Given the description of an element on the screen output the (x, y) to click on. 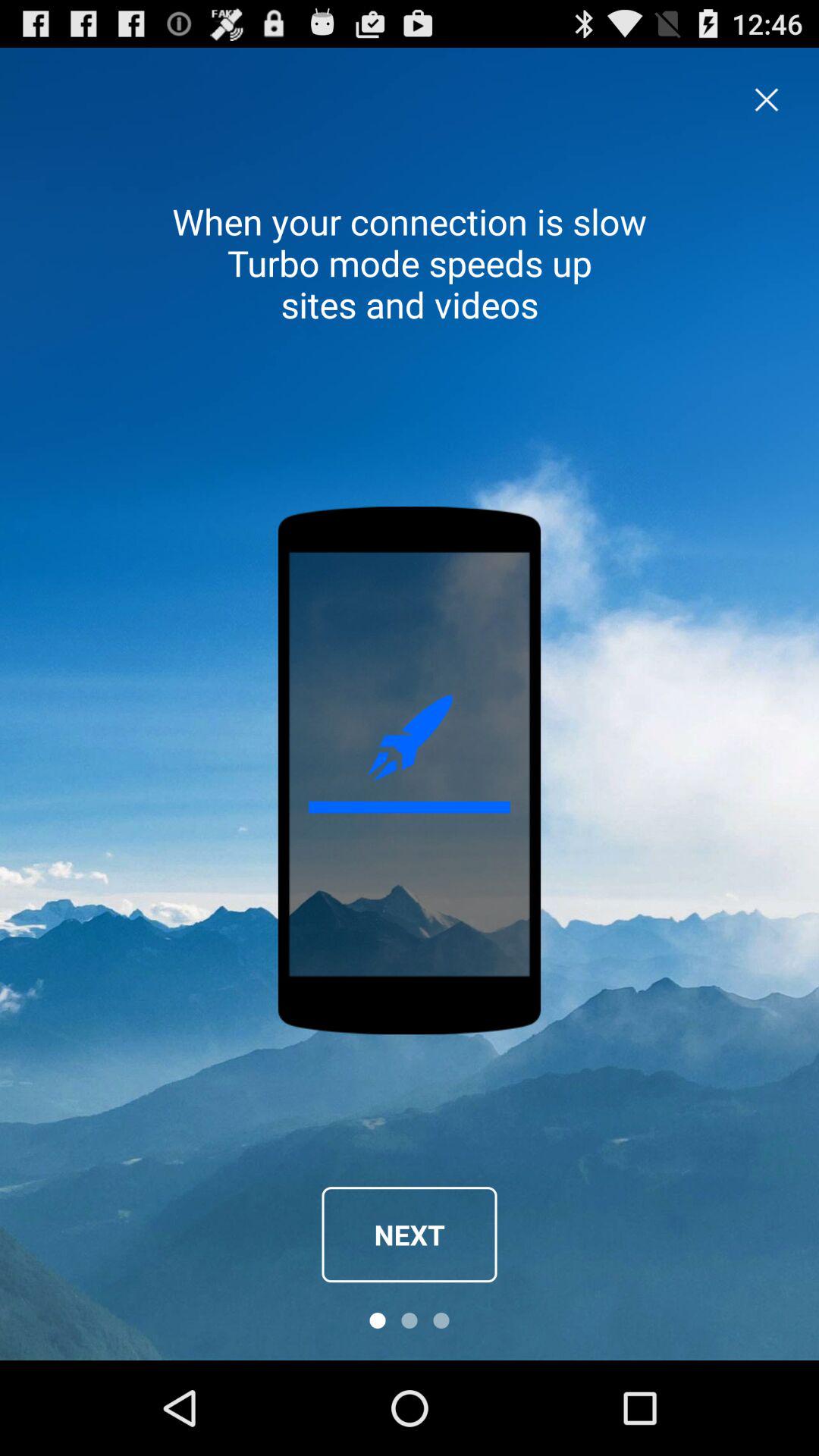
flip until the next item (409, 1234)
